Given the description of an element on the screen output the (x, y) to click on. 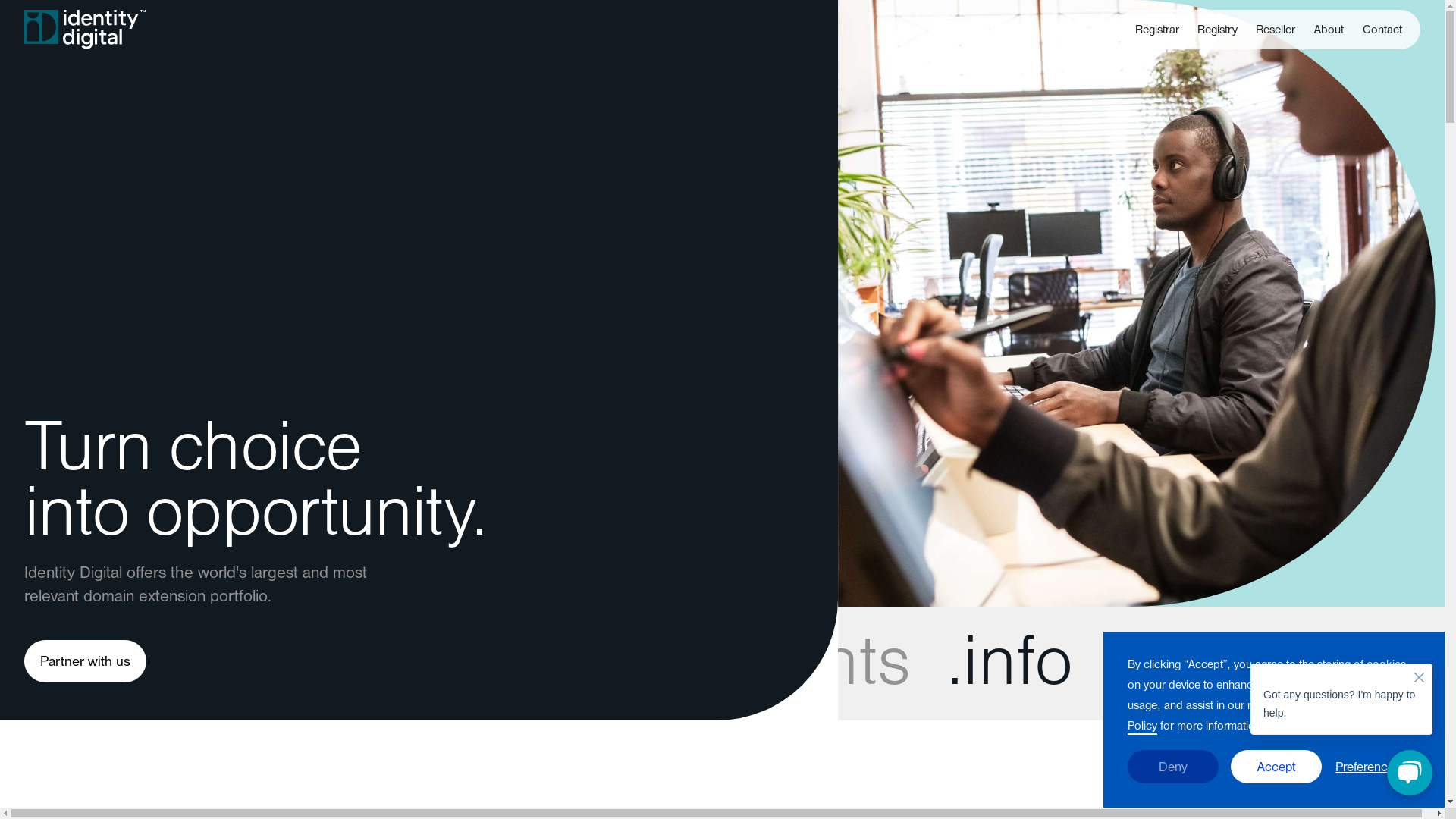
Privacy Policy Element type: text (436, 714)
Registrar Portal Element type: text (82, 771)
Linkedin Element type: text (779, 541)
Registrar Element type: text (57, 484)
Contact Element type: text (1382, 31)
TLD Portfolio Element type: text (73, 569)
Accept Element type: text (1275, 766)
Terms of Service Element type: text (1109, 599)
Privacy Policy Element type: text (1272, 717)
Twitter Element type: text (772, 513)
Contact Element type: text (53, 686)
Careers Element type: text (415, 513)
Partner with us Element type: text (85, 661)
Marketing Assets Element type: text (88, 743)
Report Abuse Element type: text (75, 714)
Newsroom Element type: text (426, 541)
Registry Element type: text (54, 513)
Help Center Element type: text (69, 658)
Reseller Element type: text (1275, 31)
Registry Element type: text (1217, 31)
Registrar Element type: text (1157, 31)
Facebook Element type: text (785, 484)
Google Privacy Policy Element type: text (1328, 584)
Deny Element type: text (1172, 766)
Policies Element type: text (415, 658)
Preferences Element type: text (1367, 766)
Company Element type: text (421, 484)
WHOIS Access Element type: text (443, 743)
Website Terms of Use Element type: text (467, 686)
Reseller Element type: text (55, 541)
